Given the description of an element on the screen output the (x, y) to click on. 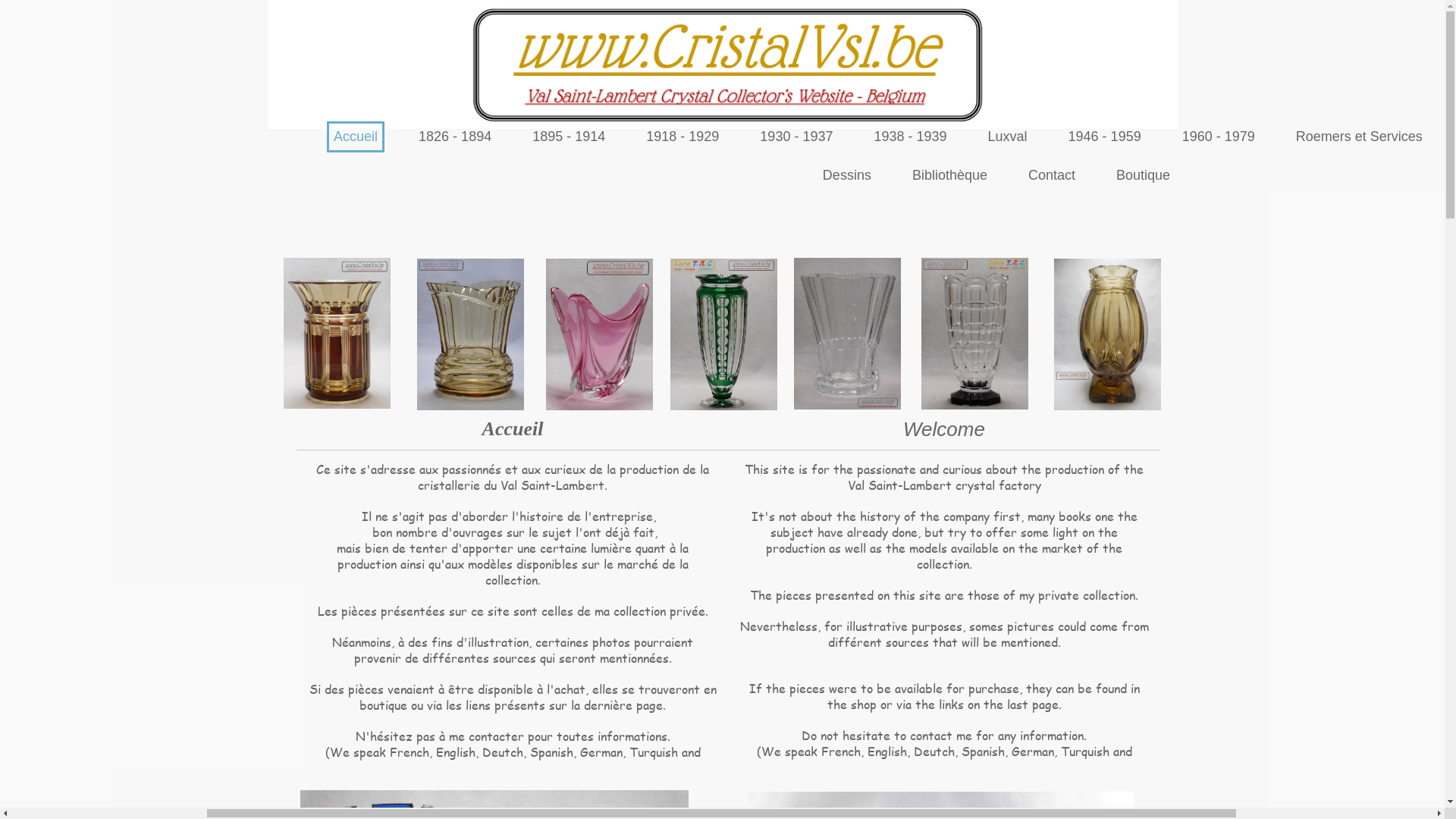
1918 - 1929 Element type: text (957, 136)
Dessins Element type: text (1122, 175)
1826 - 1894 Element type: text (730, 136)
Contact Element type: text (1326, 175)
Boutique Element type: text (1418, 175)
1930 - 1937 Element type: text (1071, 136)
1946 - 1959 Element type: text (1379, 136)
1938 - 1939 Element type: text (1185, 136)
Accueil Element type: text (630, 136)
Luxval Element type: text (1282, 136)
1895 - 1914 Element type: text (843, 136)
